Given the description of an element on the screen output the (x, y) to click on. 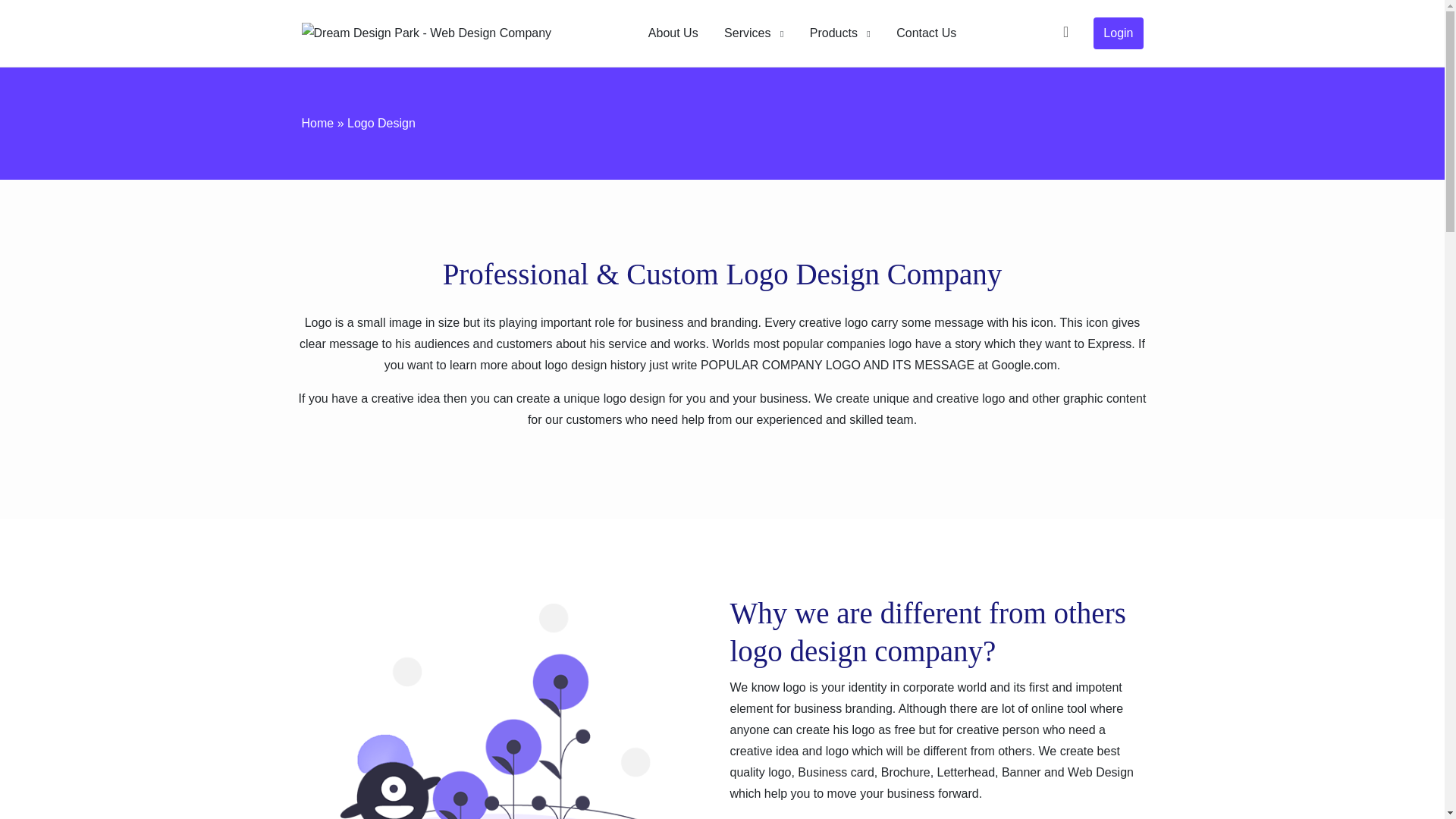
Services (753, 33)
Dream Design Park (426, 33)
About Us (673, 33)
Products (839, 33)
